Given the description of an element on the screen output the (x, y) to click on. 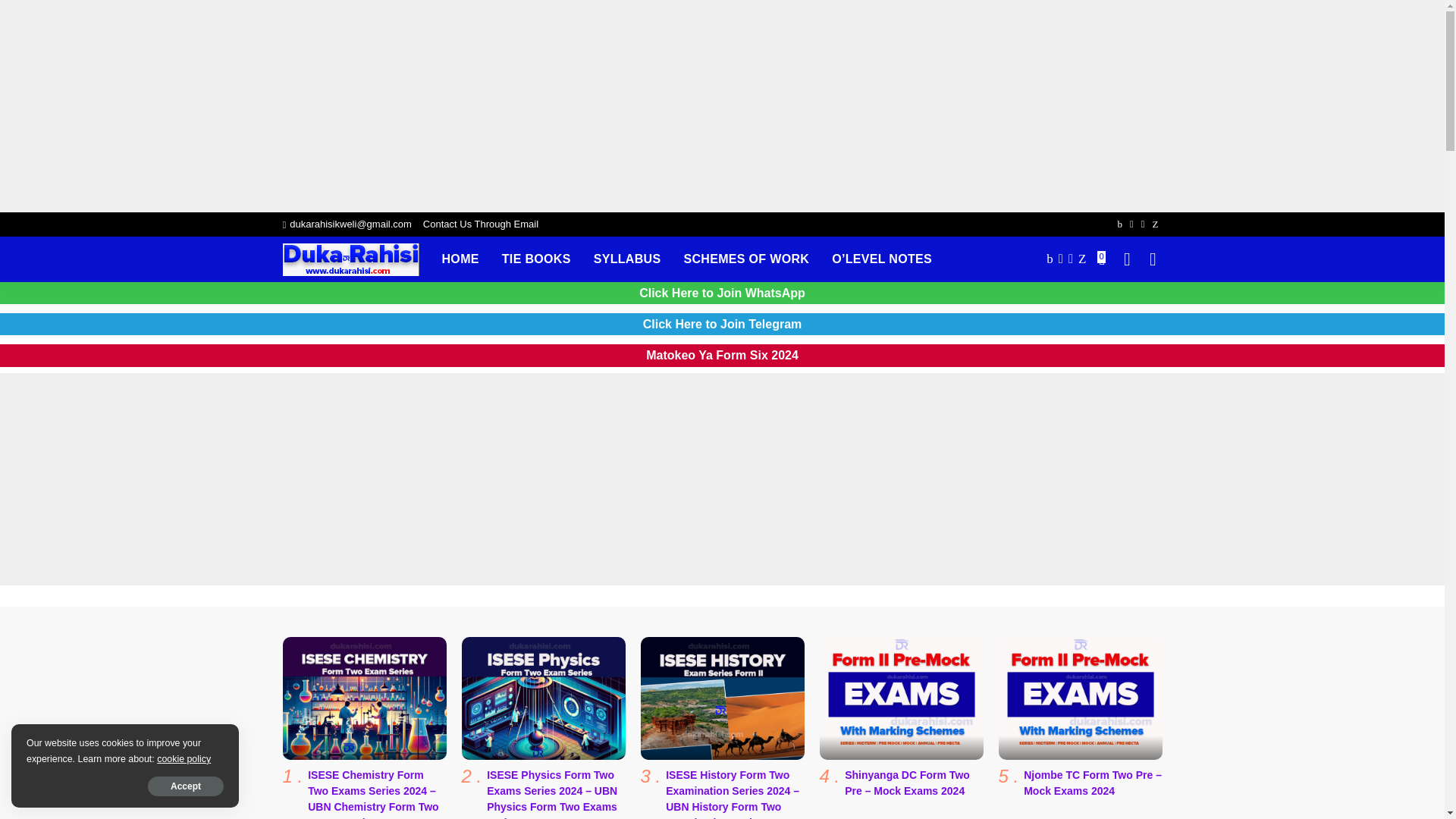
SYLLABUS (627, 258)
TIE BOOKS (536, 258)
Dukarahisi (350, 258)
HOME (460, 258)
